Given the description of an element on the screen output the (x, y) to click on. 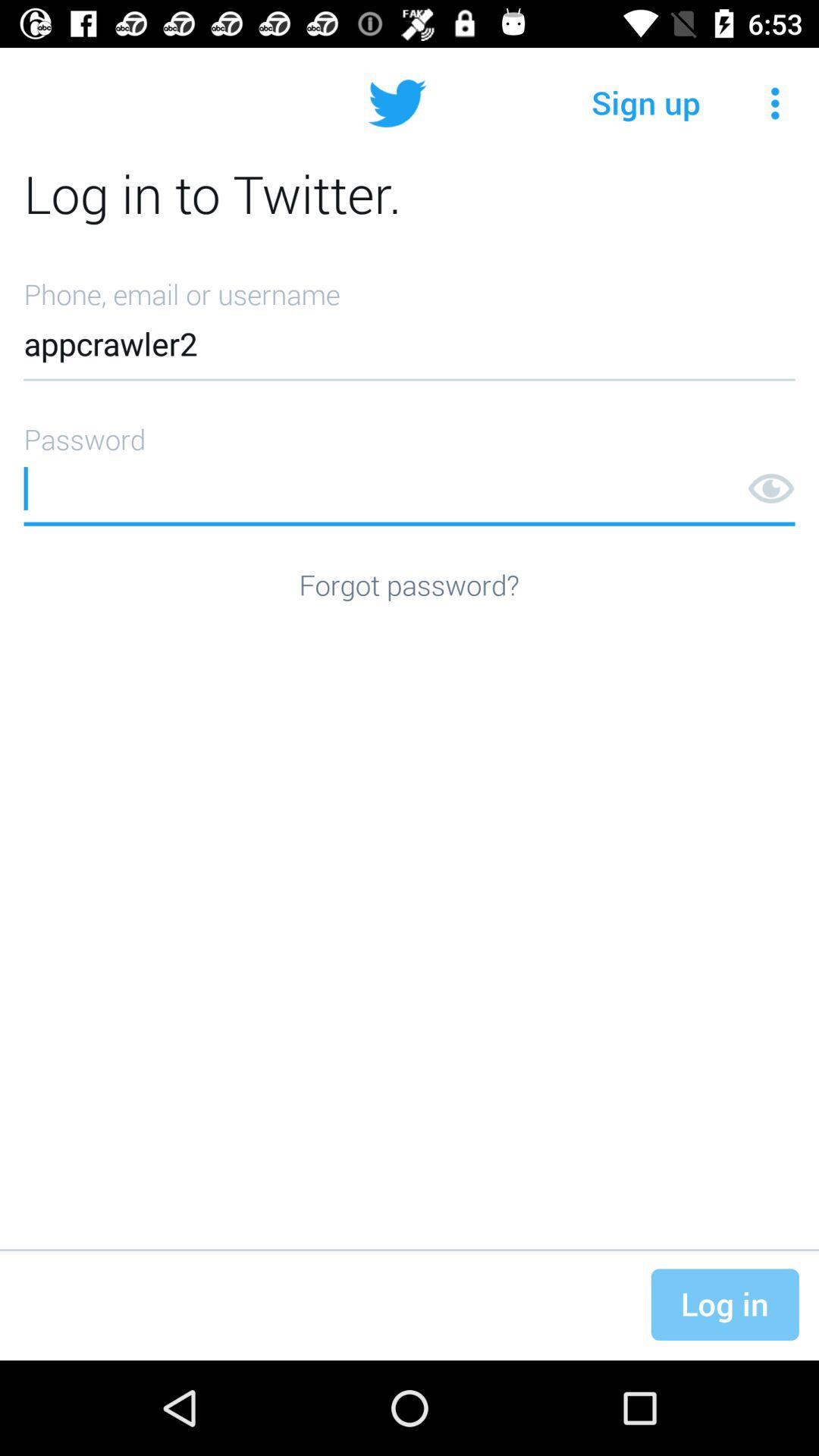
turn on sign up icon (645, 103)
